Given the description of an element on the screen output the (x, y) to click on. 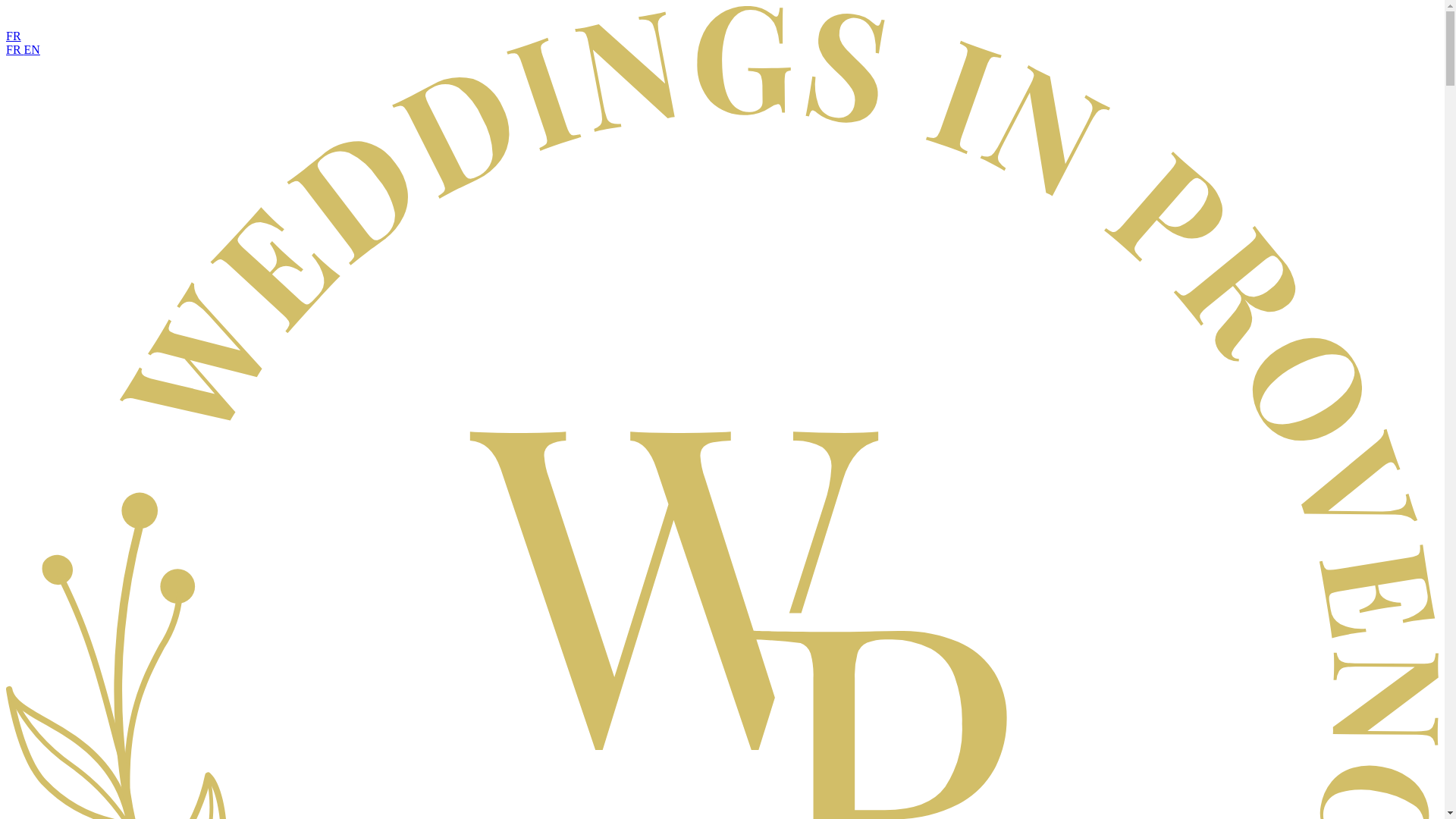
FR (14, 49)
EN (32, 49)
English (32, 49)
FR (13, 35)
